Given the description of an element on the screen output the (x, y) to click on. 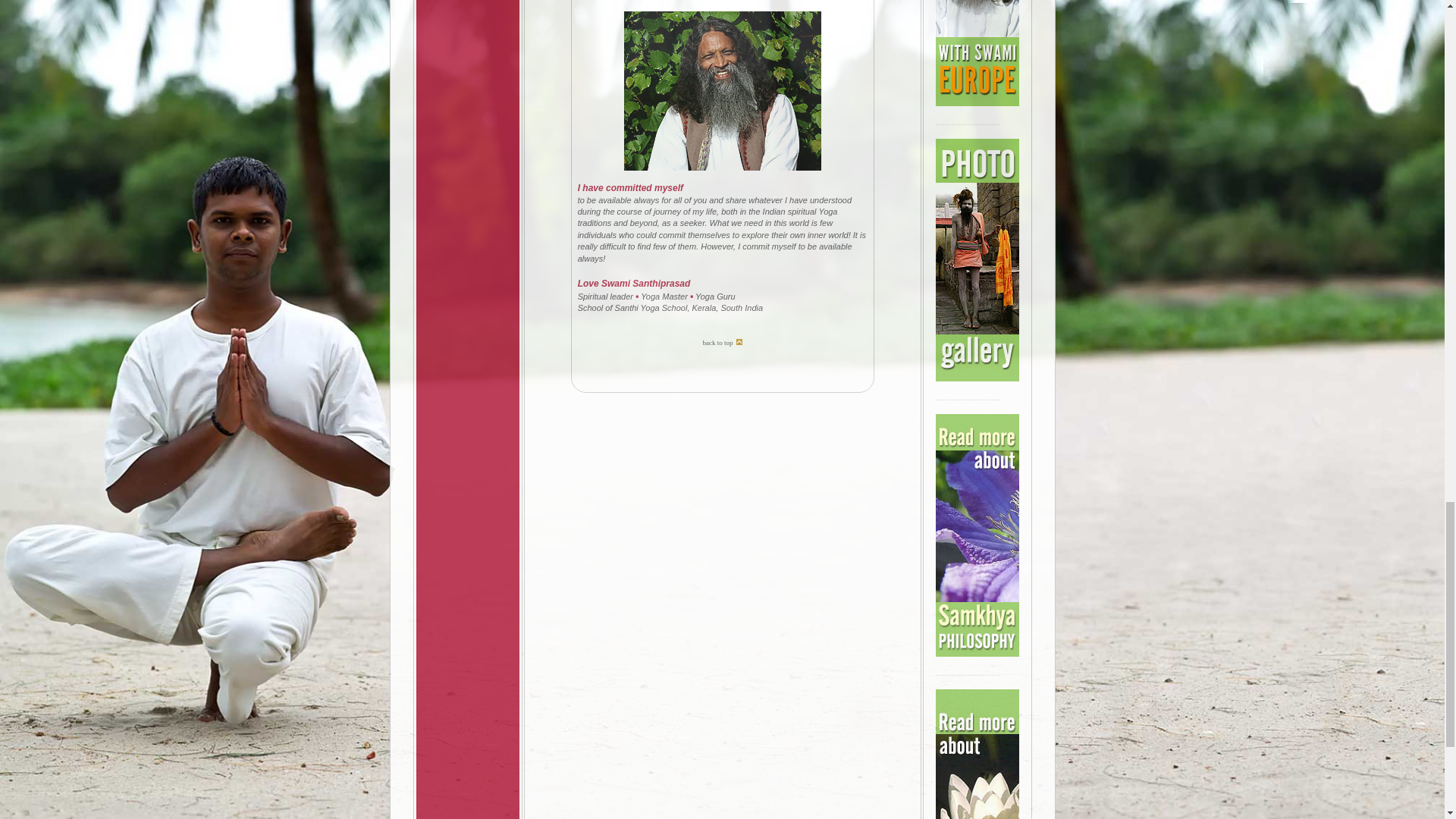
back to top   (721, 361)
